Given the description of an element on the screen output the (x, y) to click on. 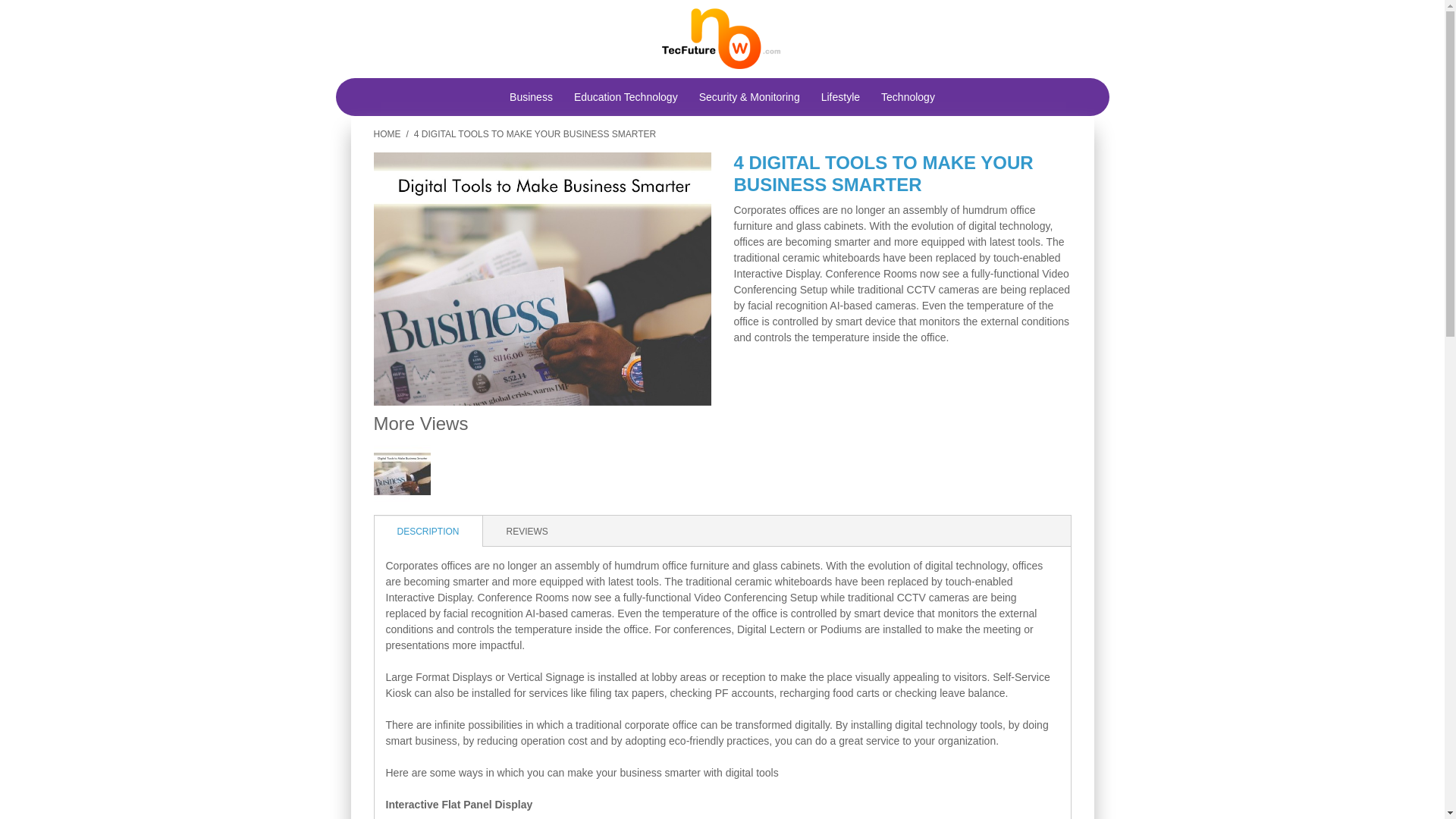
digital-tools-to-make-business-smarter (401, 473)
Technology (907, 96)
Go to Home Page (386, 133)
Business (531, 96)
Education Technology (625, 96)
digital-tools-to-make-business-smarter (541, 278)
HOME (386, 133)
Lifestyle (840, 96)
